Given the description of an element on the screen output the (x, y) to click on. 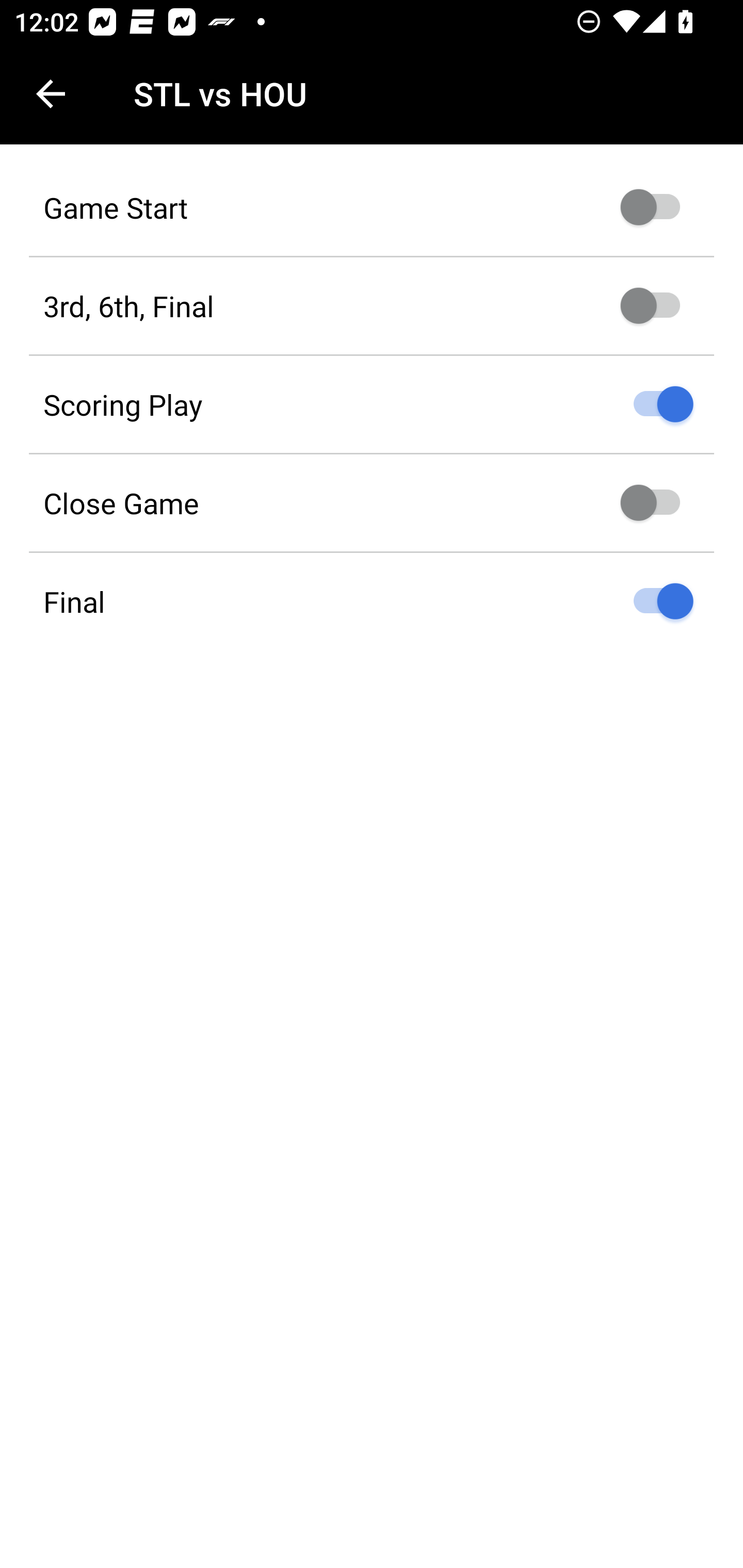
Navigate up (50, 93)
